Given the description of an element on the screen output the (x, y) to click on. 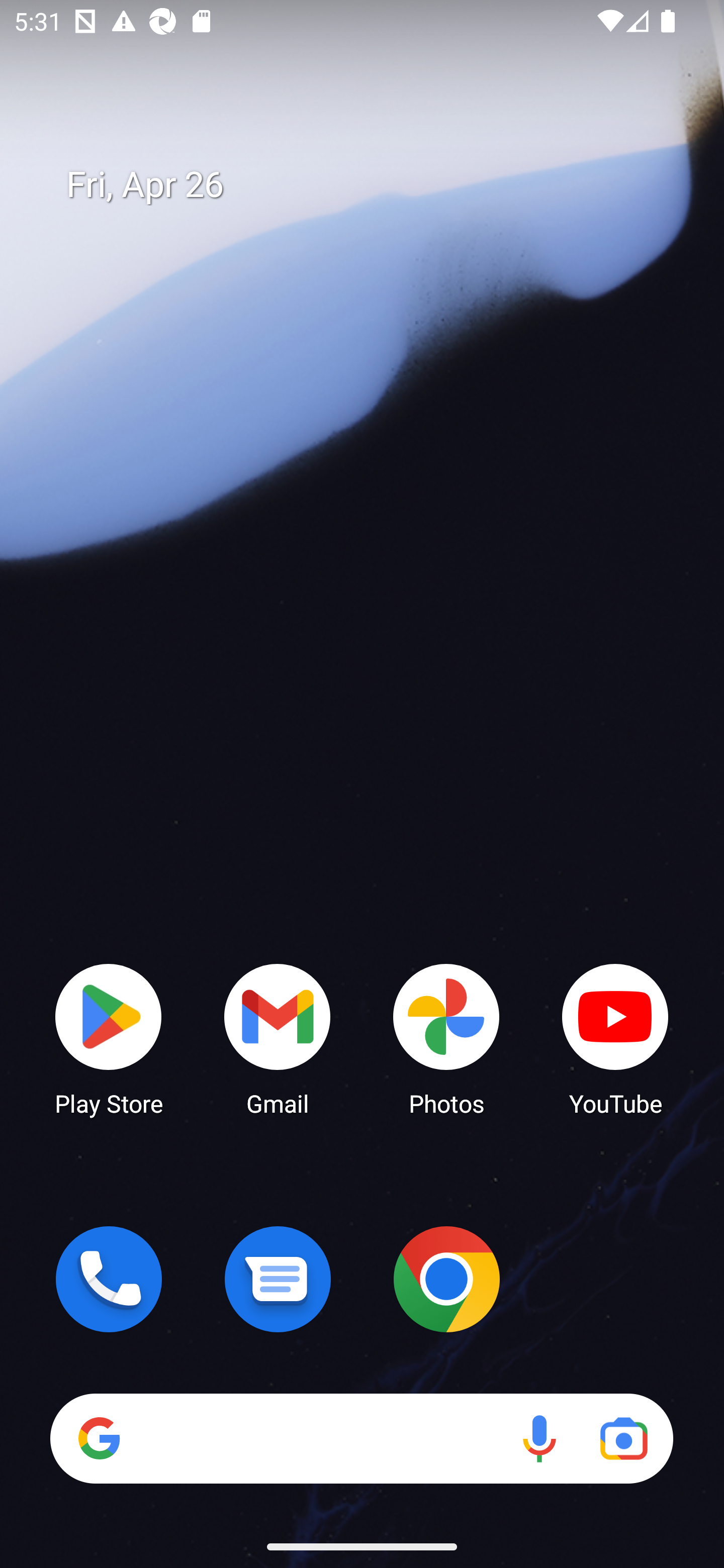
Fri, Apr 26 (375, 184)
Play Store (108, 1038)
Gmail (277, 1038)
Photos (445, 1038)
YouTube (615, 1038)
Phone (108, 1279)
Messages (277, 1279)
Chrome (446, 1279)
Search Voice search Google Lens (361, 1438)
Voice search (539, 1438)
Google Lens (623, 1438)
